Given the description of an element on the screen output the (x, y) to click on. 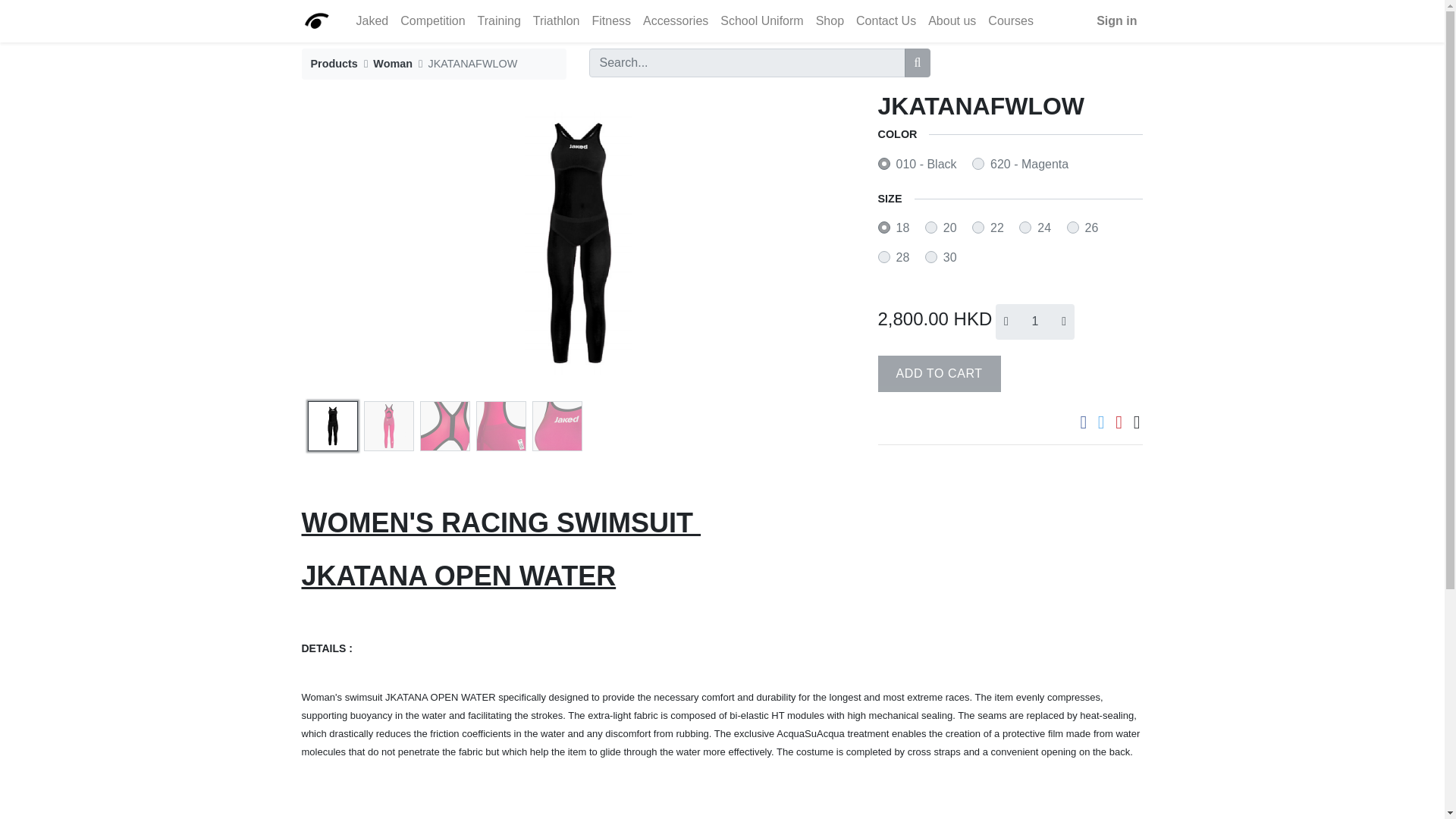
Fitness (611, 20)
1 (1035, 321)
Woman (392, 63)
Shop (829, 20)
ADD TO CART (939, 373)
Training (499, 20)
Accessories (675, 20)
Sign in (1116, 20)
Triathlon (556, 20)
Search (917, 62)
